Given the description of an element on the screen output the (x, y) to click on. 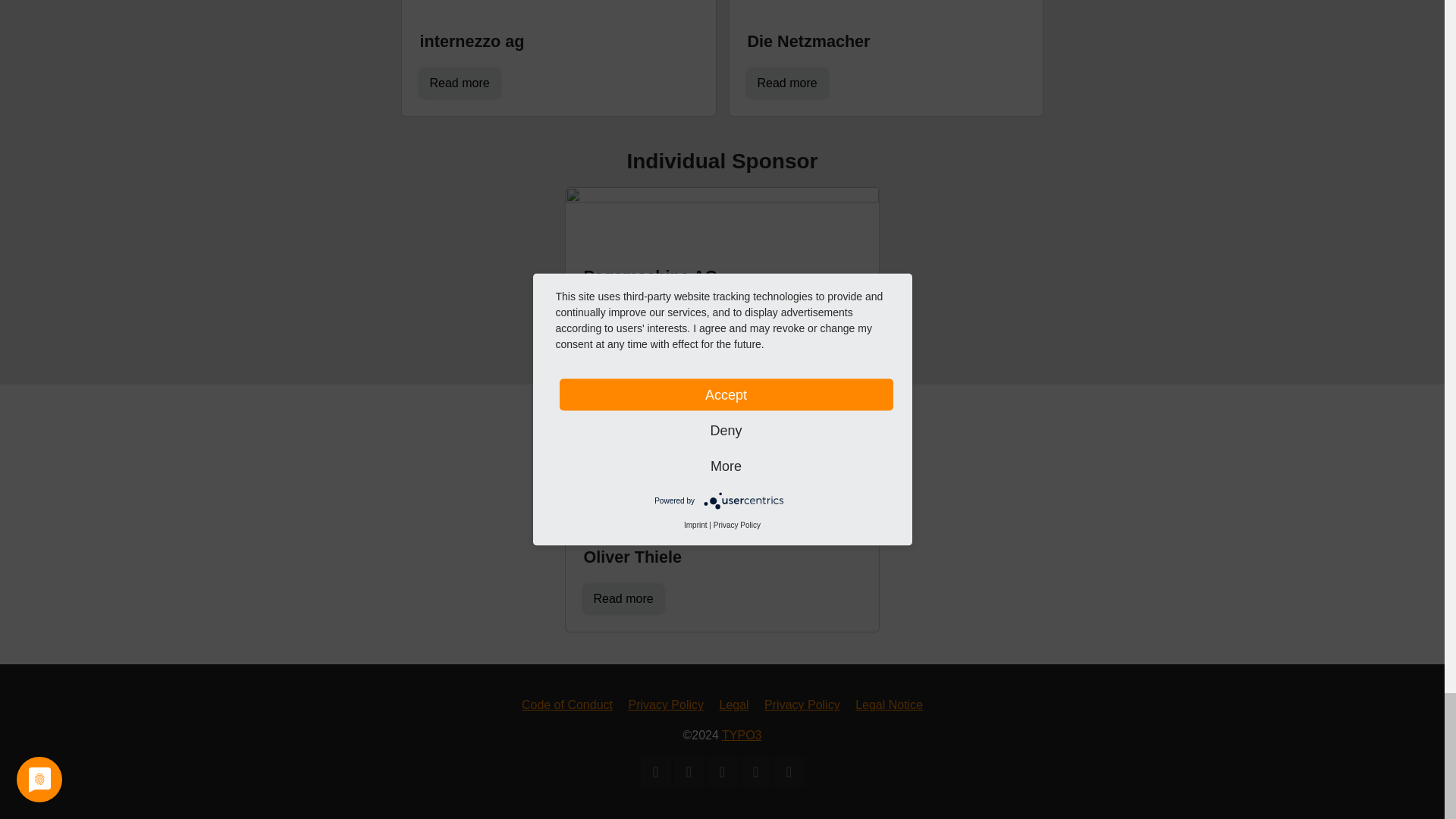
Read more (787, 82)
Read more (623, 598)
Code of Conduct (566, 704)
Read more (623, 318)
Read more (459, 82)
Legal (733, 704)
Privacy Policy (665, 704)
